Given the description of an element on the screen output the (x, y) to click on. 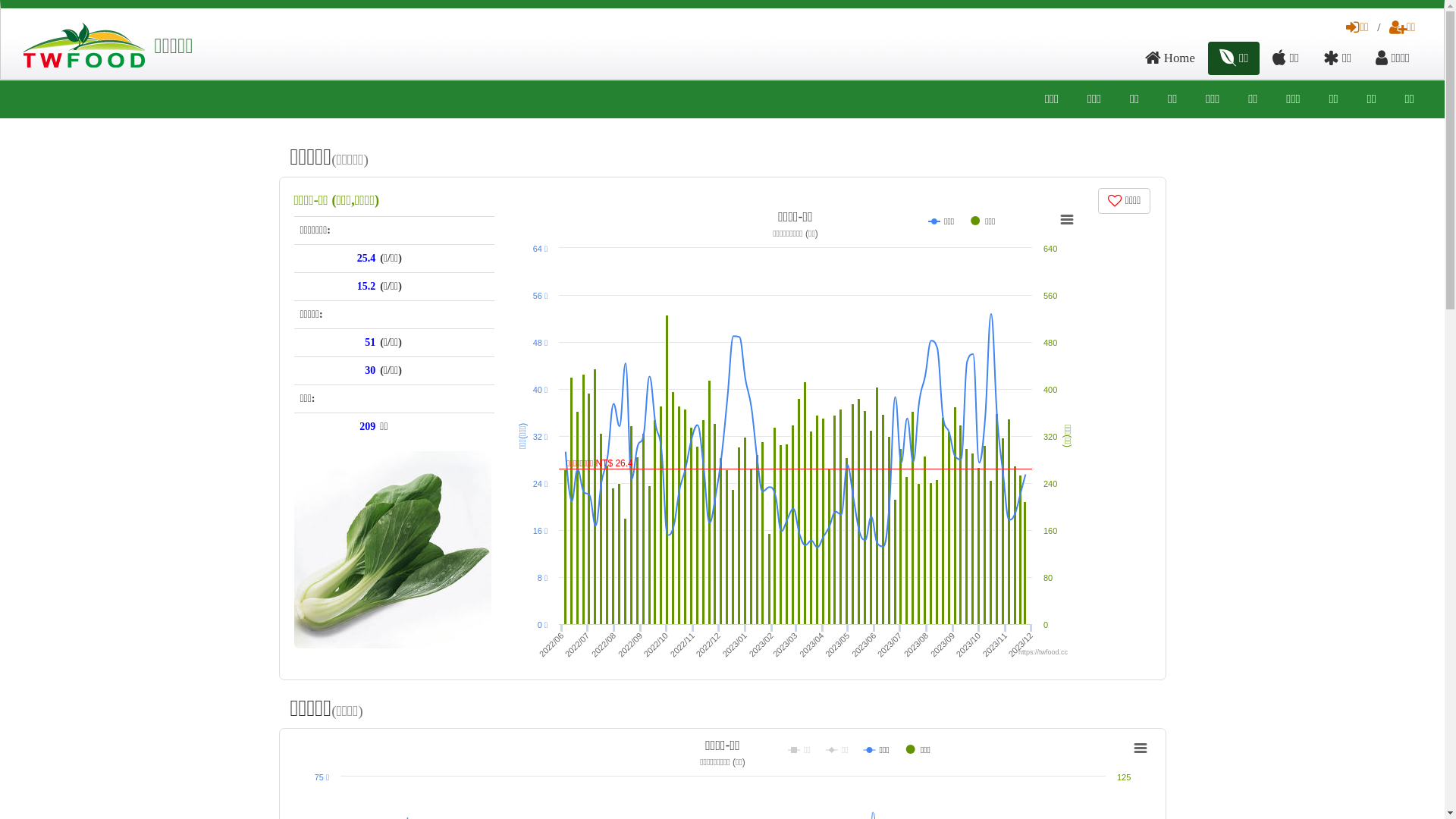
Home Element type: text (1169, 58)
